Given the description of an element on the screen output the (x, y) to click on. 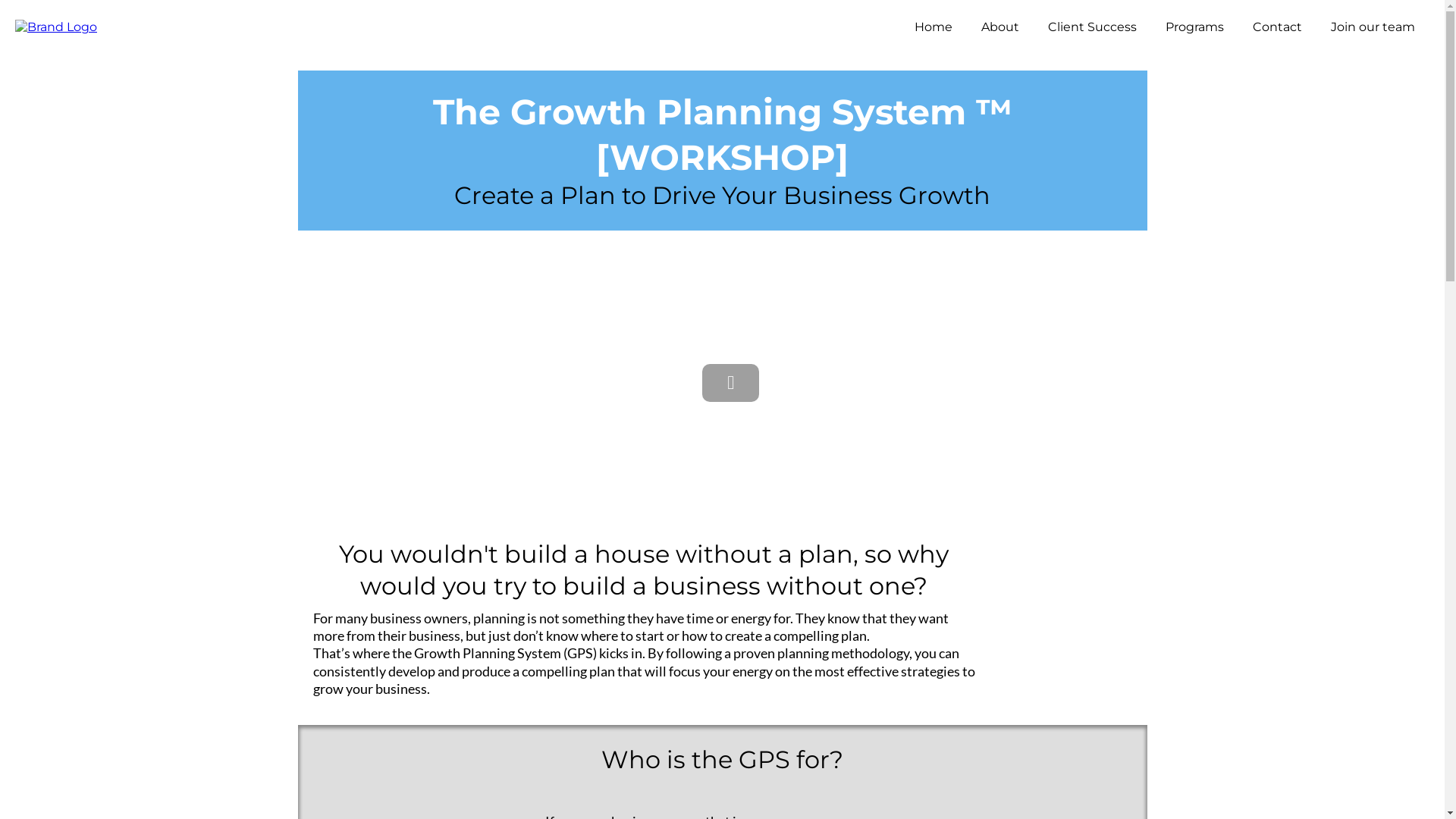
About Element type: text (999, 27)
Client Success Element type: text (1092, 27)
Join our team Element type: text (1372, 27)
Programs Element type: text (1194, 27)
Home Element type: text (933, 27)
Contact Element type: text (1277, 27)
